Given the description of an element on the screen output the (x, y) to click on. 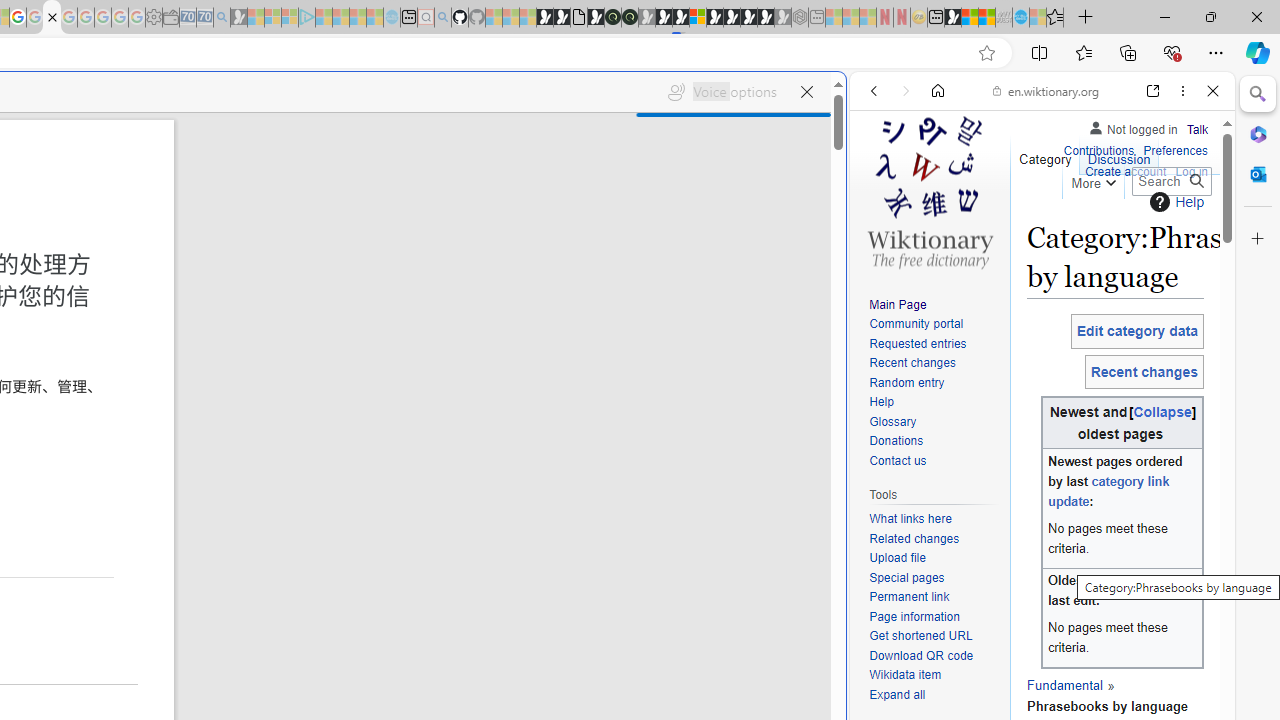
Get shortened URL (920, 636)
Wiktionary (1034, 669)
Download QR code (934, 655)
